Given the description of an element on the screen output the (x, y) to click on. 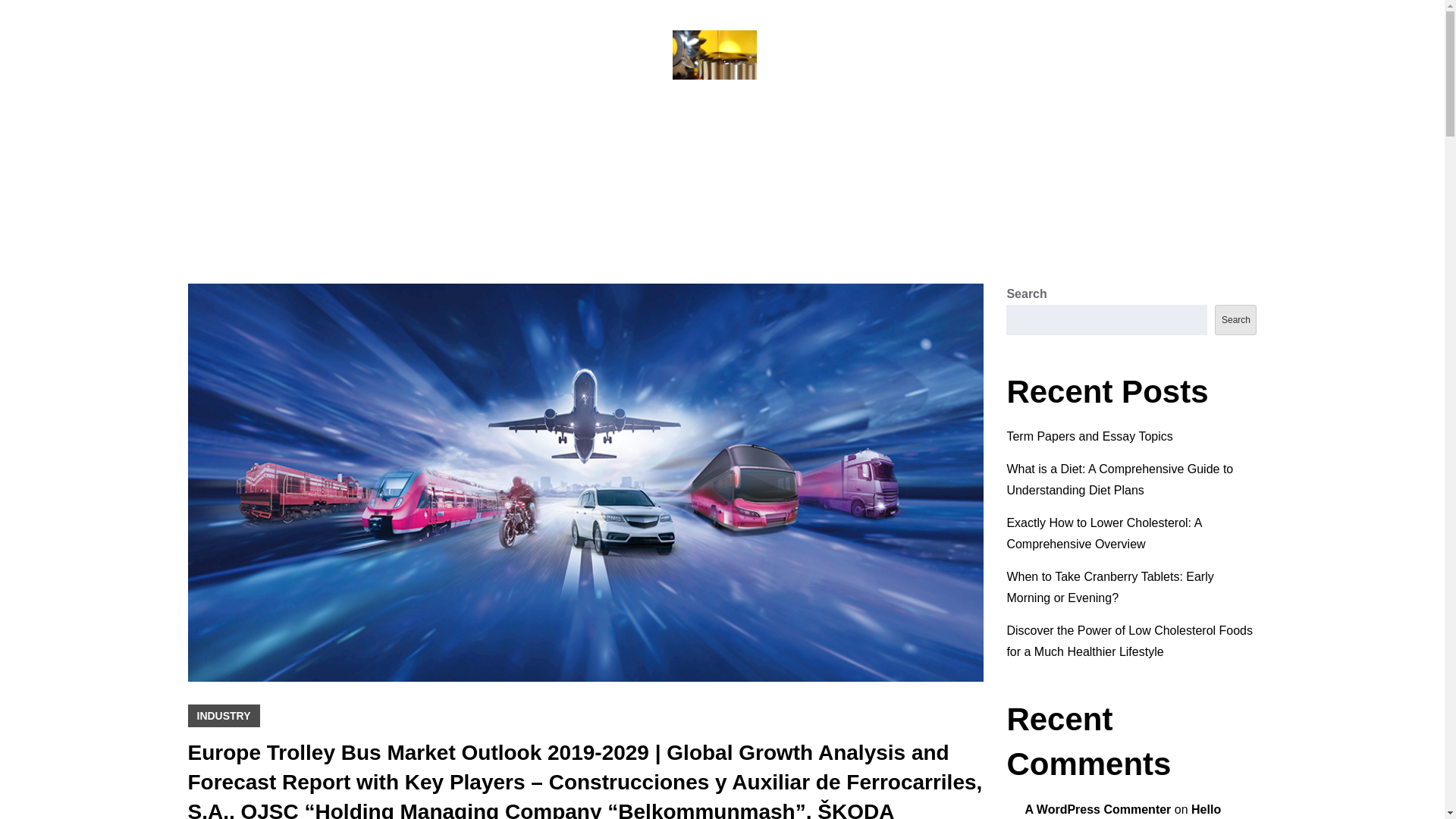
Hello world! (1123, 811)
A WordPress Commenter (1097, 809)
When to Take Cranberry Tablets: Early Morning or Evening? (1109, 587)
INDUSTRY (223, 715)
Exactly How to Lower Cholesterol: A Comprehensive Overview (1103, 533)
Search (1235, 319)
Term Papers and Essay Topics (1089, 436)
INDUSTRY NEWS ANALYSIS (722, 116)
